Given the description of an element on the screen output the (x, y) to click on. 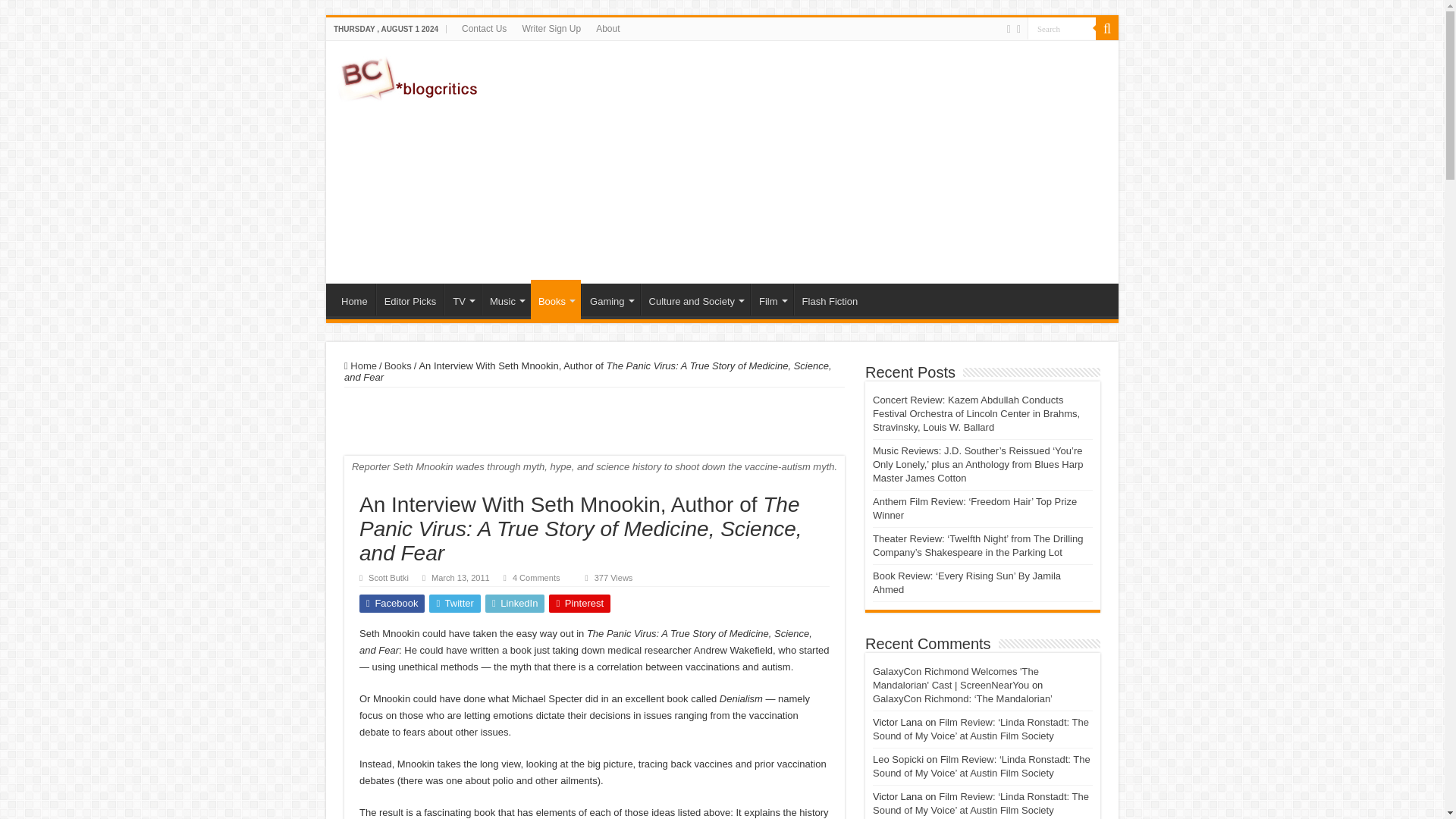
Search (1061, 28)
Blogcritics (409, 75)
Search (1061, 28)
Search (1061, 28)
